Given the description of an element on the screen output the (x, y) to click on. 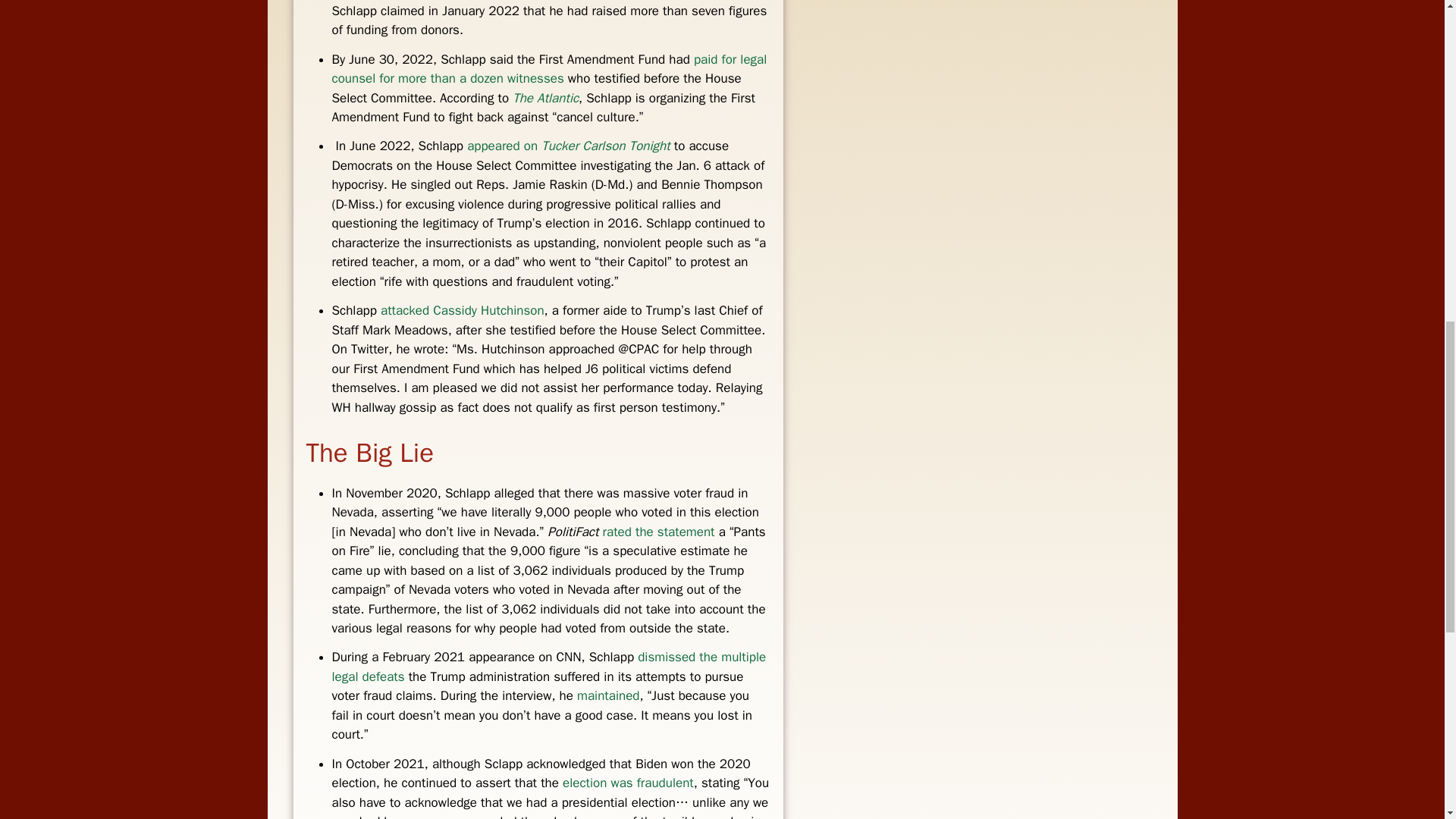
paid for legal counsel for more than a dozen witnesses (549, 68)
Scroll back to top (1406, 720)
attacked Cassidy Hutchinson (462, 310)
appeared on Tucker Carlson Tonight (568, 145)
The Atlantic (545, 98)
